Given the description of an element on the screen output the (x, y) to click on. 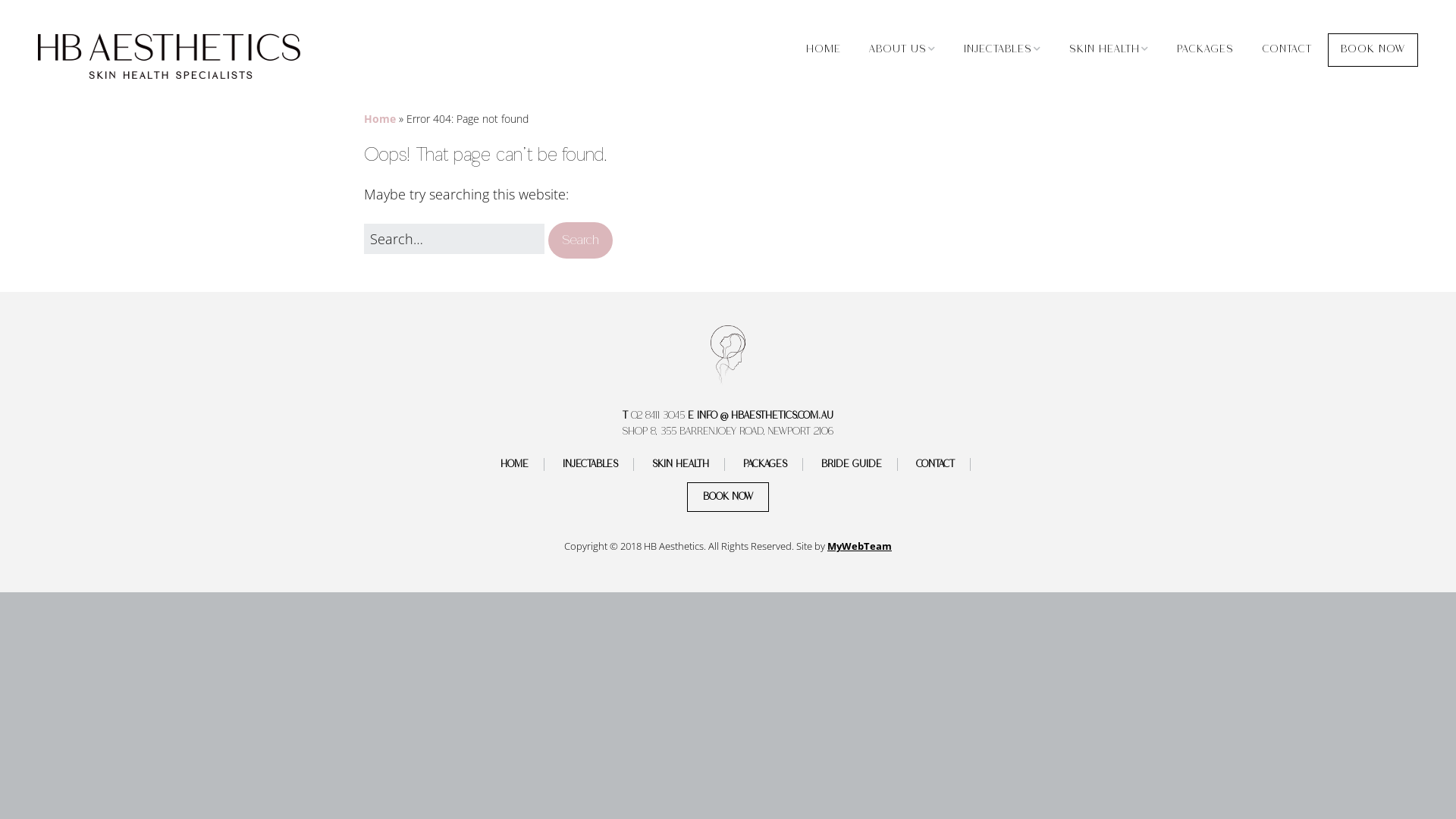
BOOK NOW Element type: text (727, 496)
CONTACT Element type: text (935, 464)
ABOUT US Element type: text (901, 49)
HOME Element type: text (514, 464)
Press Enter to submit your search Element type: hover (454, 238)
Search Element type: text (580, 240)
INJECTABLES Element type: text (590, 464)
SKIN HEALTH Element type: text (680, 464)
BOOK NOW Element type: text (1372, 49)
BRIDE GUIDE Element type: text (851, 464)
SKIN HEALTH Element type: text (1109, 49)
MyWebTeam Element type: text (859, 545)
INFO @ HBAESTHETICS.COM.AU Element type: text (764, 415)
PACKAGES Element type: text (1204, 49)
CONTACT Element type: text (1286, 49)
INJECTABLES Element type: text (1002, 49)
PACKAGES Element type: text (765, 464)
HOME Element type: text (823, 49)
Home Element type: text (379, 118)
